Given the description of an element on the screen output the (x, y) to click on. 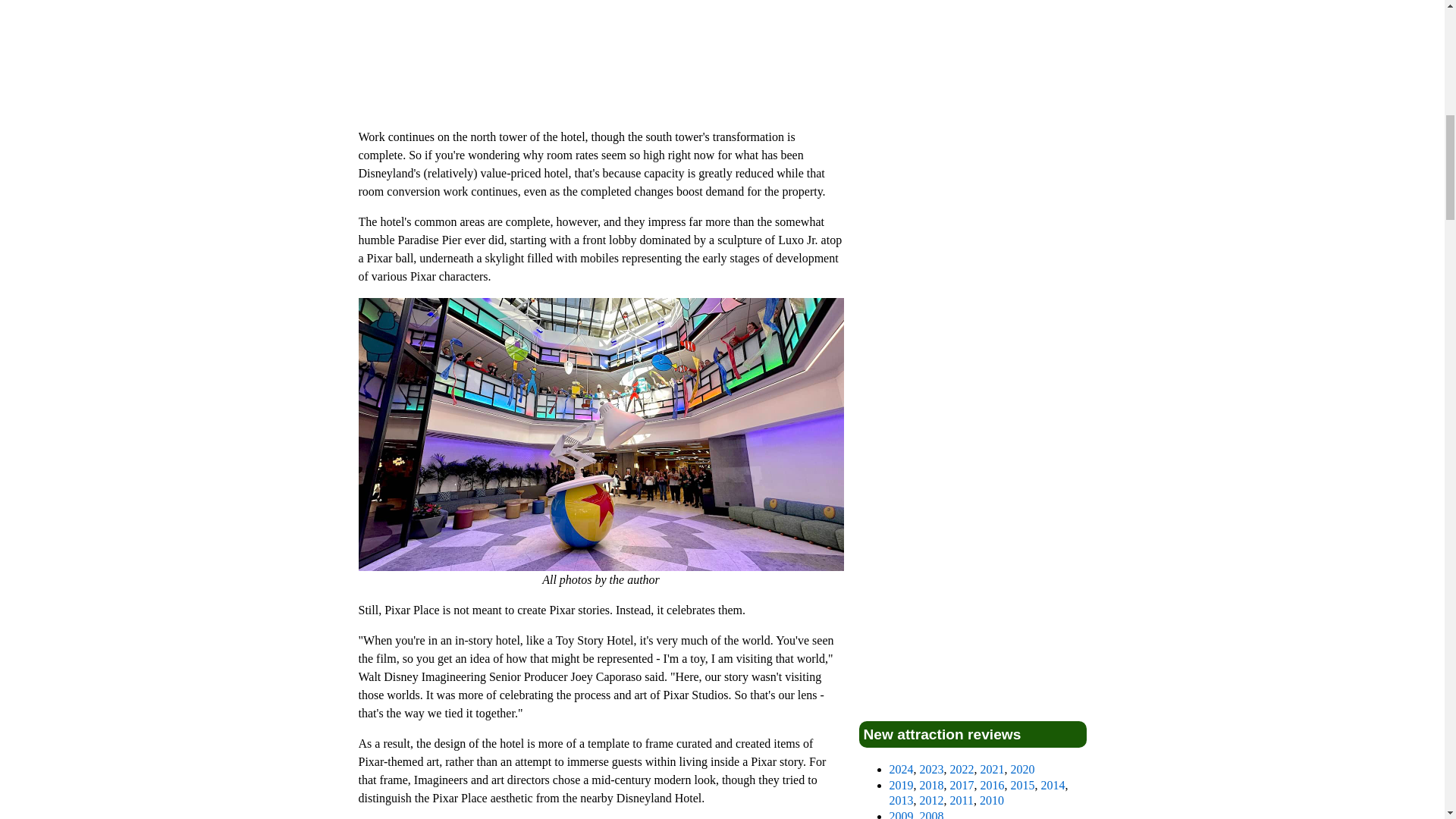
YouTube video player (600, 58)
